Given the description of an element on the screen output the (x, y) to click on. 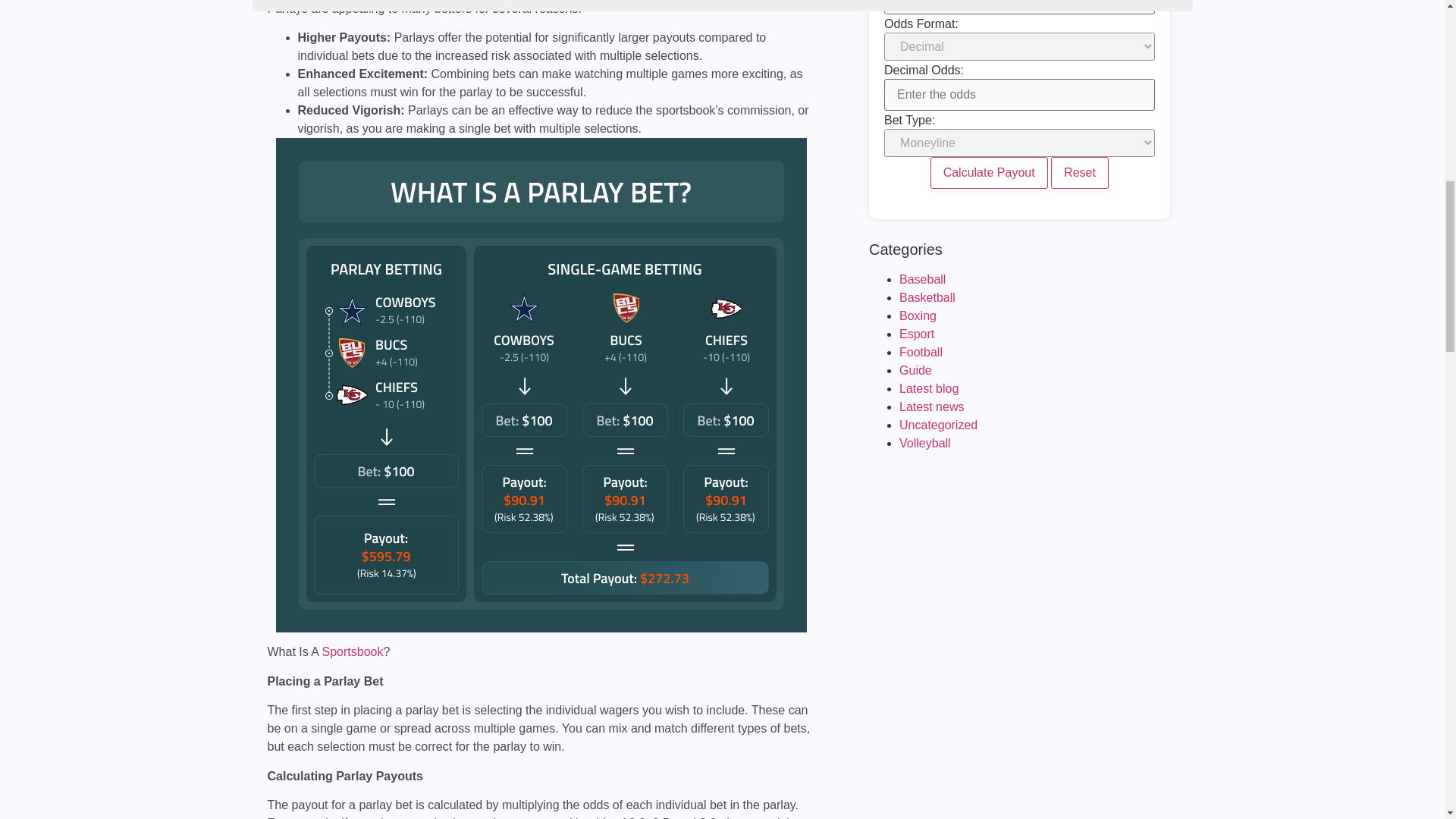
Esport (916, 333)
Football (920, 351)
Basketball (927, 297)
Sportsbook (352, 651)
Latest news (931, 406)
Calculate Payout (989, 173)
Boxing (917, 315)
Guide (915, 369)
Reset (1079, 173)
Latest blog (928, 388)
Uncategorized (937, 424)
Volleyball (924, 442)
Baseball (921, 278)
